Given the description of an element on the screen output the (x, y) to click on. 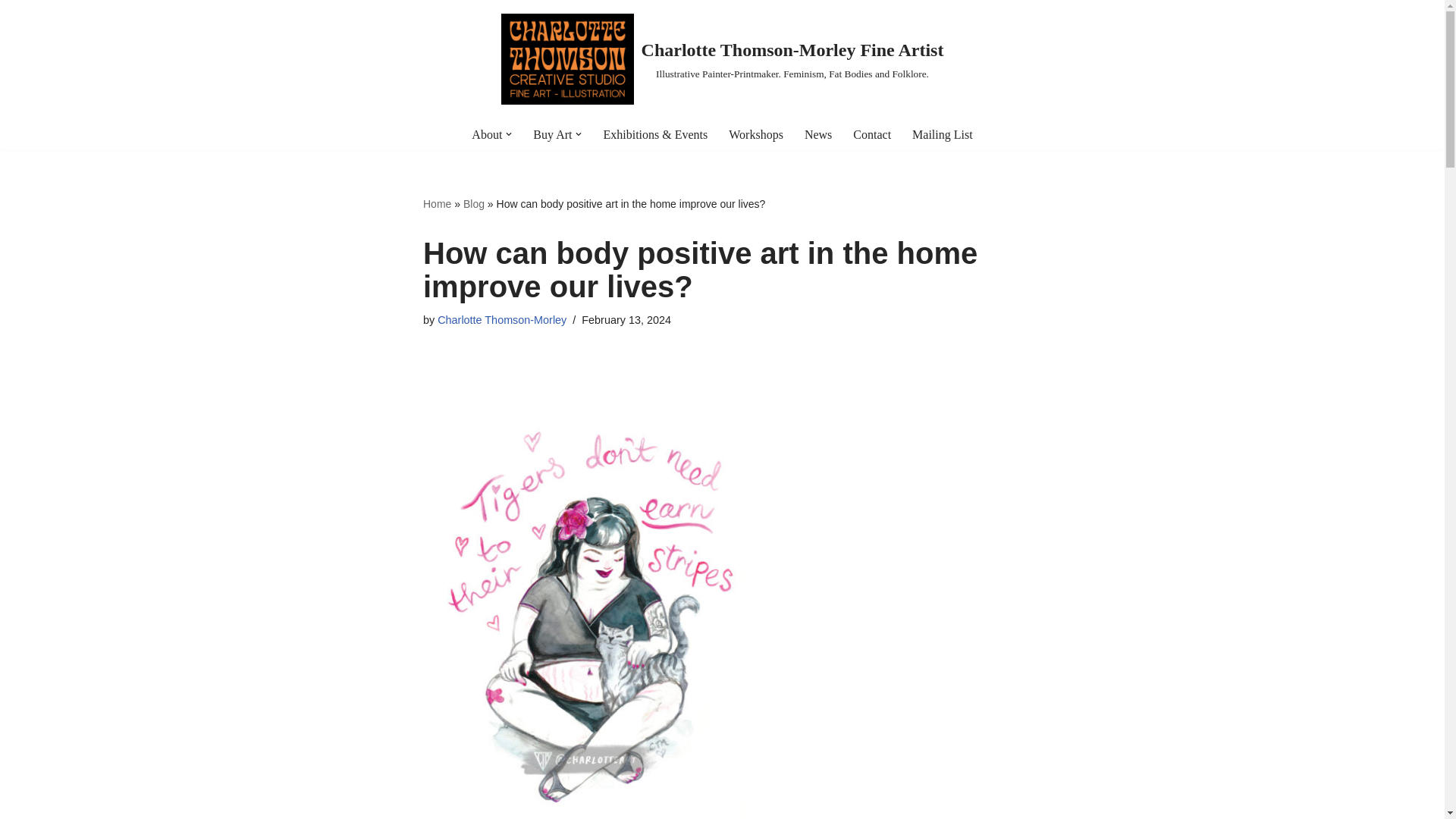
About (486, 134)
News (818, 134)
Contact (872, 134)
Home (437, 203)
Skip to content (11, 31)
Buy Art (552, 134)
Mailing List (942, 134)
Charlotte Thomson-Morley (502, 319)
Posts by Charlotte Thomson-Morley (502, 319)
